Given the description of an element on the screen output the (x, y) to click on. 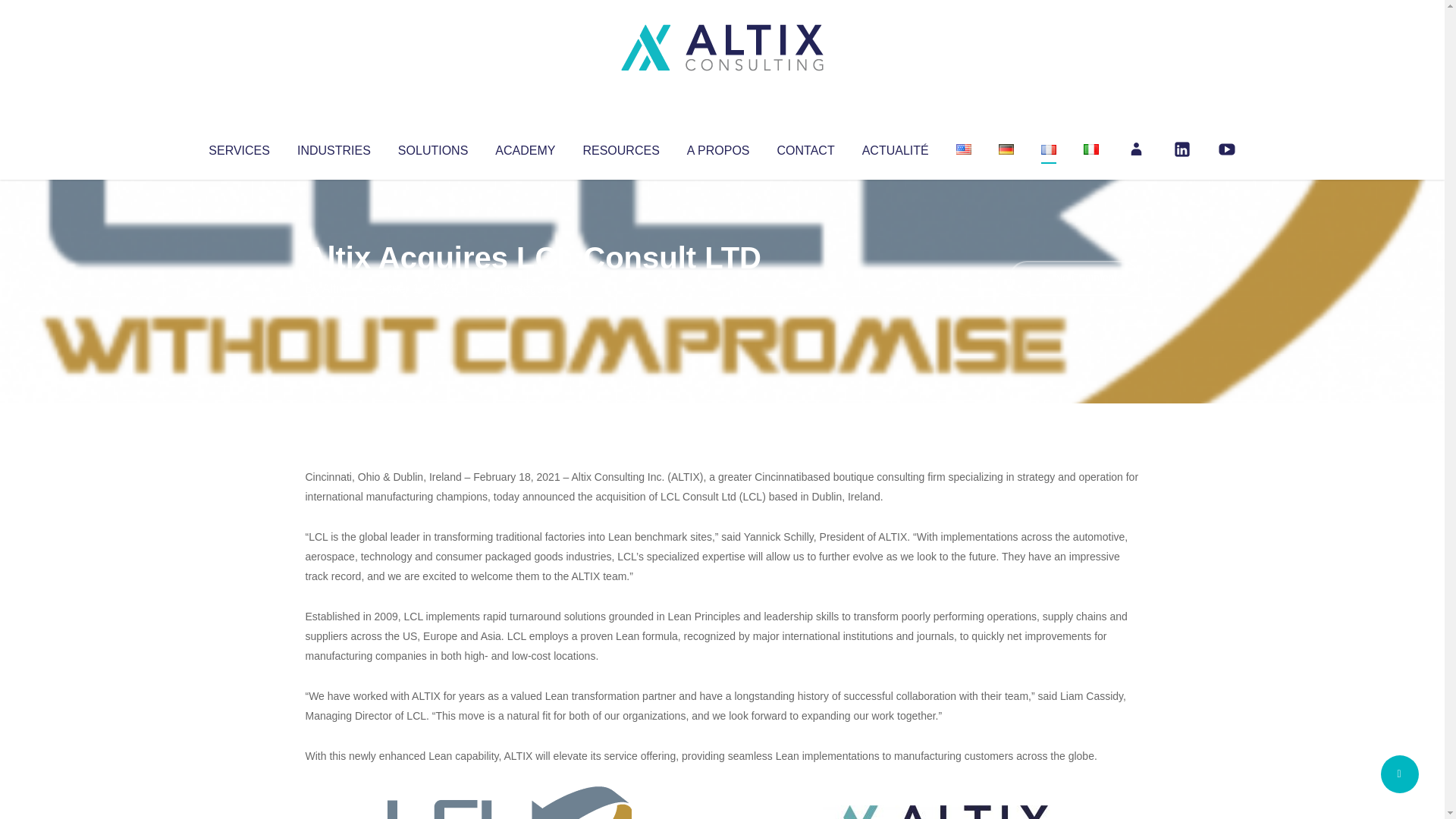
RESOURCES (620, 146)
SERVICES (238, 146)
A PROPOS (718, 146)
INDUSTRIES (334, 146)
ACADEMY (524, 146)
SOLUTIONS (432, 146)
Altix (333, 287)
No Comments (1073, 278)
Articles par Altix (333, 287)
Uncategorized (530, 287)
